Given the description of an element on the screen output the (x, y) to click on. 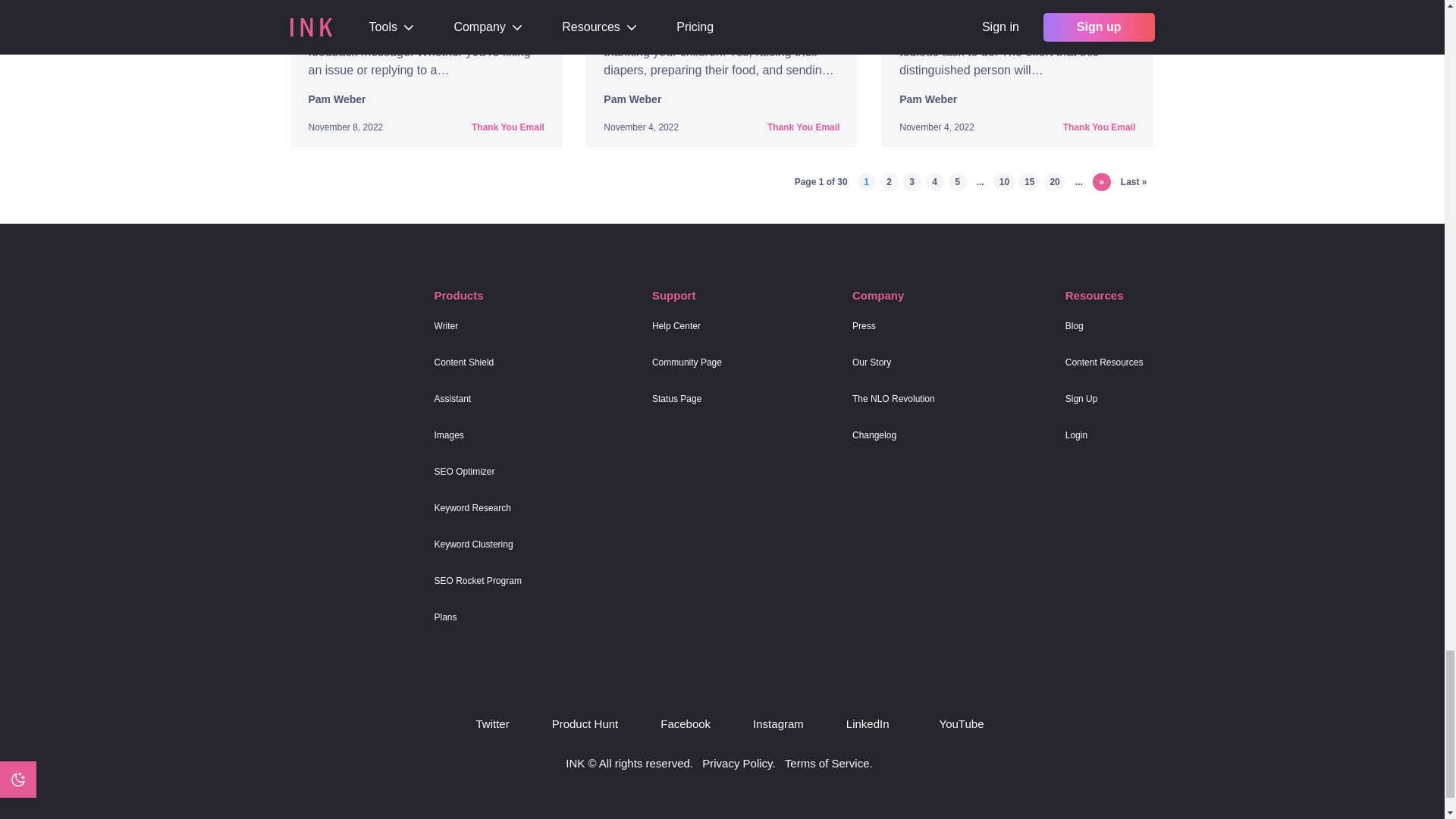
Page 15 (1029, 181)
Page 2 (889, 181)
Page 10 (1004, 181)
Page 20 (1053, 181)
Page 3 (911, 181)
Page 4 (934, 181)
Page 5 (957, 181)
